Given the description of an element on the screen output the (x, y) to click on. 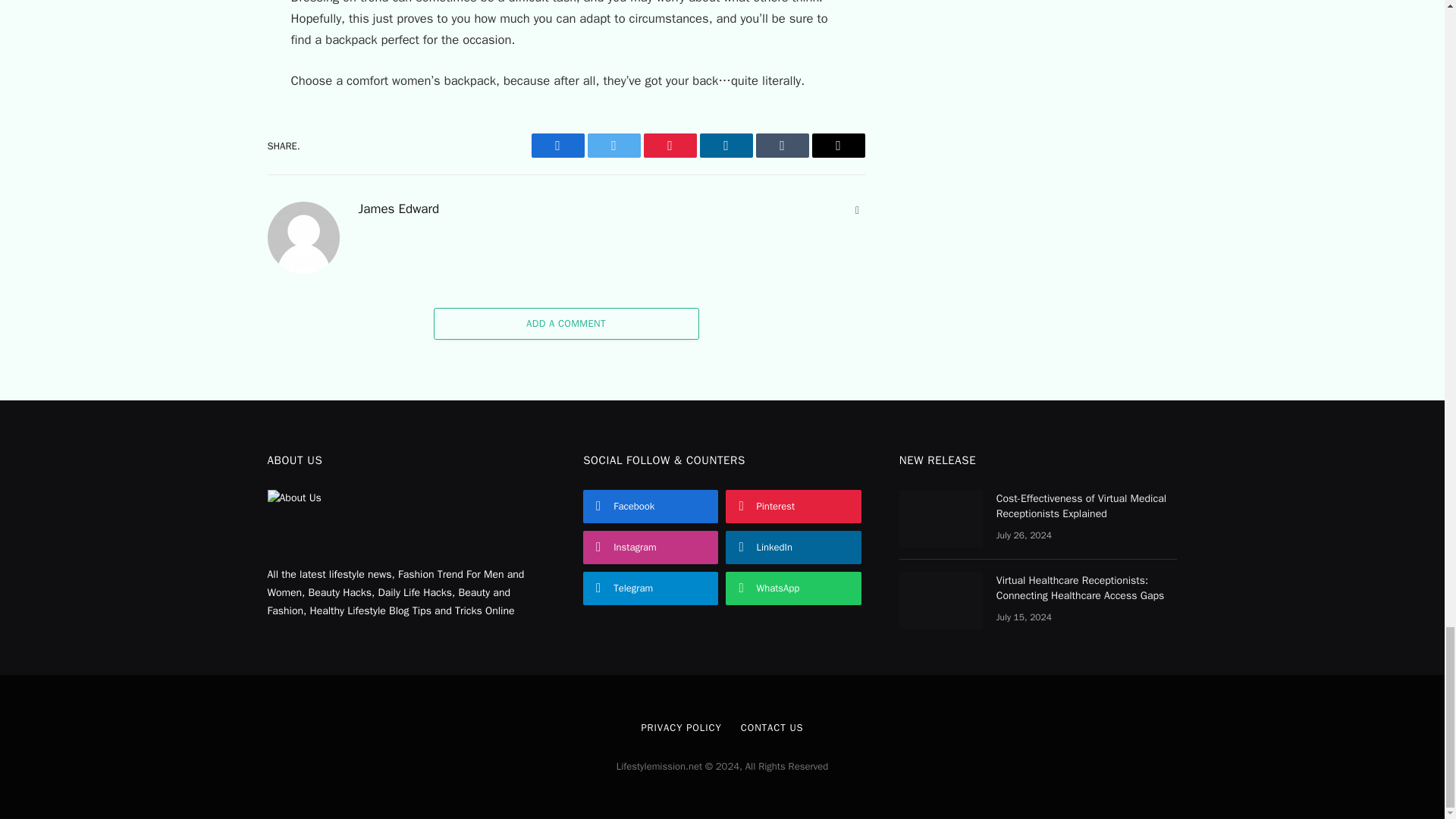
Facebook (557, 145)
